Given the description of an element on the screen output the (x, y) to click on. 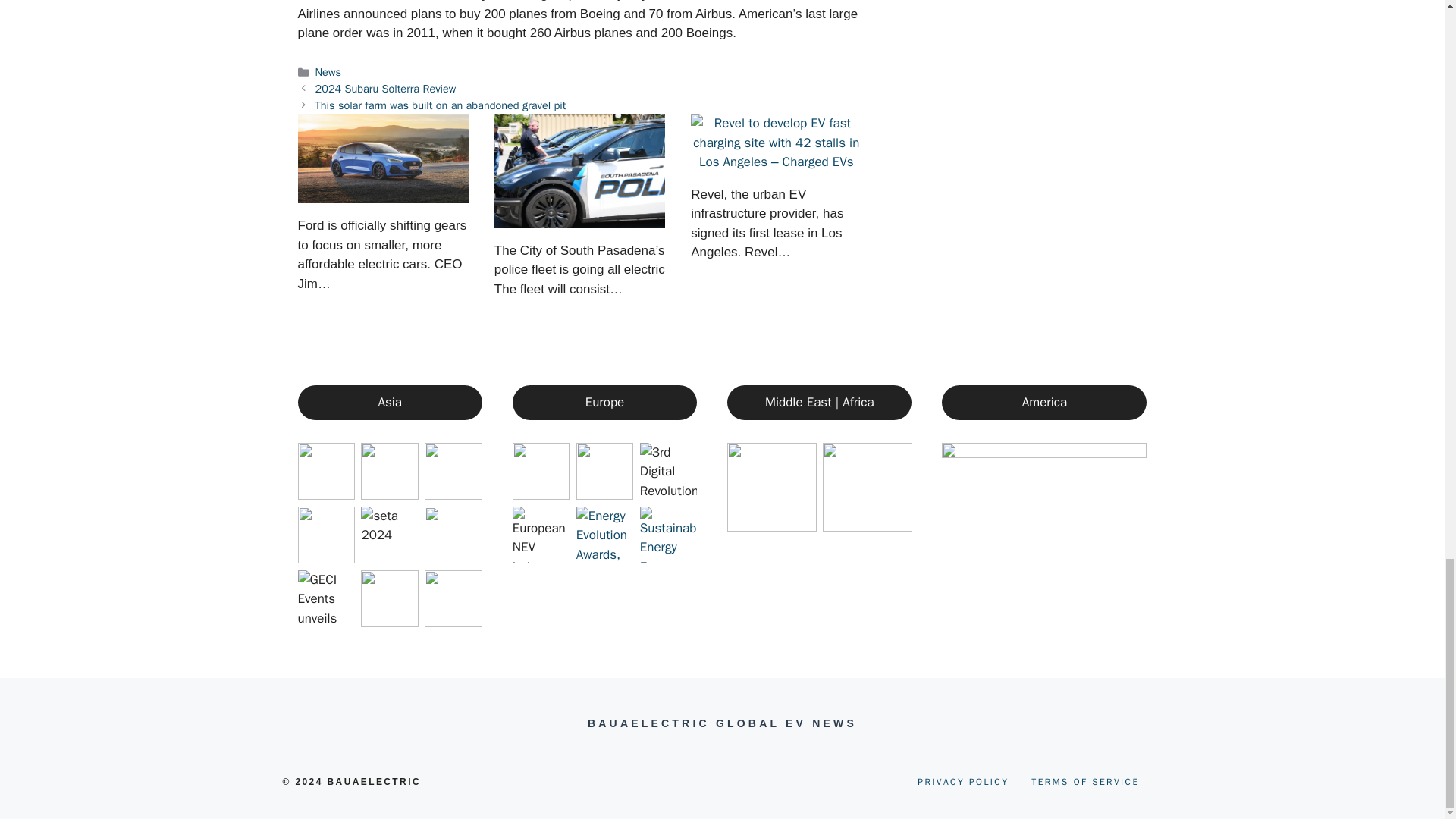
First all-electric police fleet coming to California (580, 217)
First all-electric police fleet coming to California (580, 170)
